Given the description of an element on the screen output the (x, y) to click on. 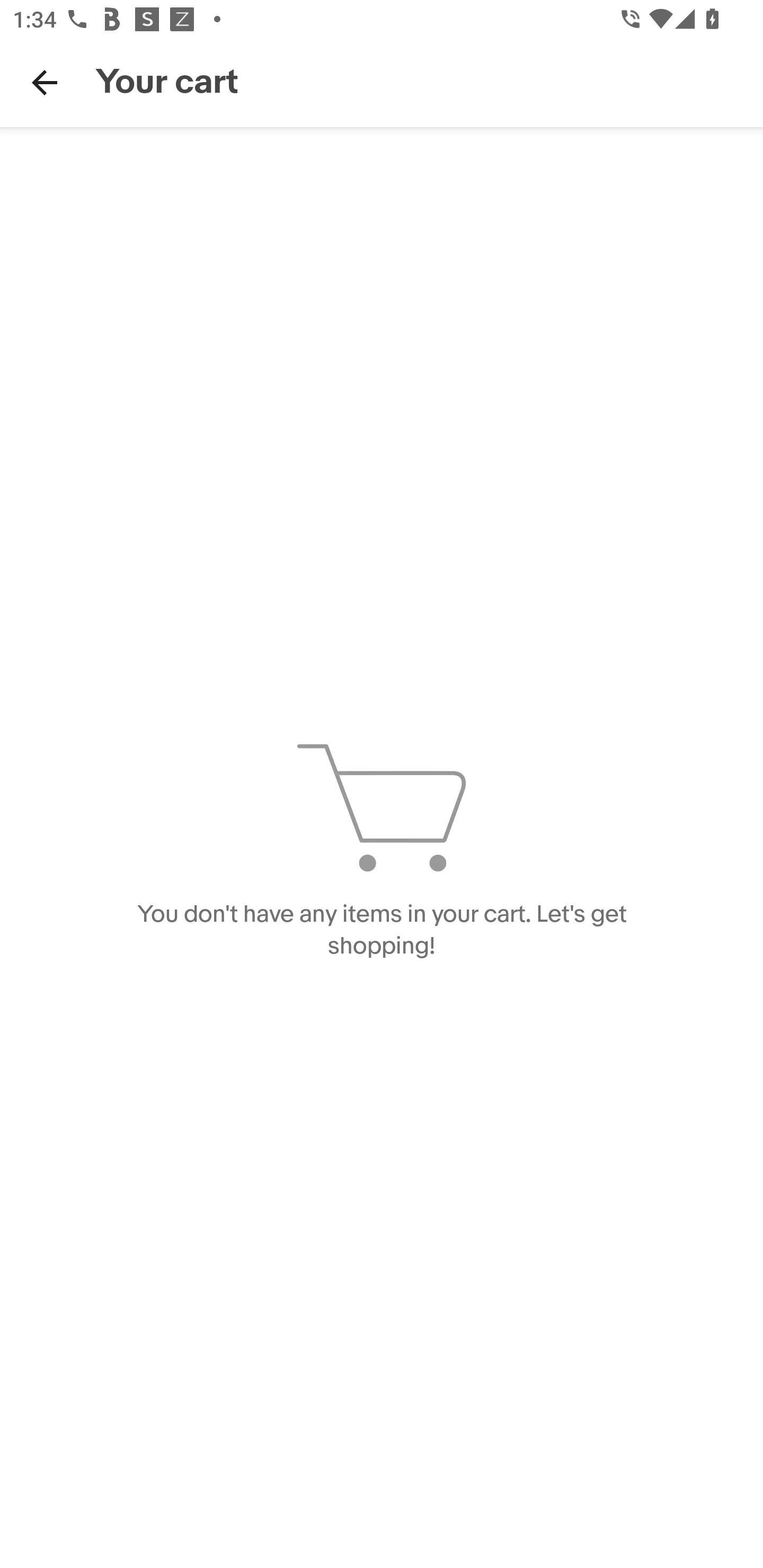
Navigate up (44, 82)
